Given the description of an element on the screen output the (x, y) to click on. 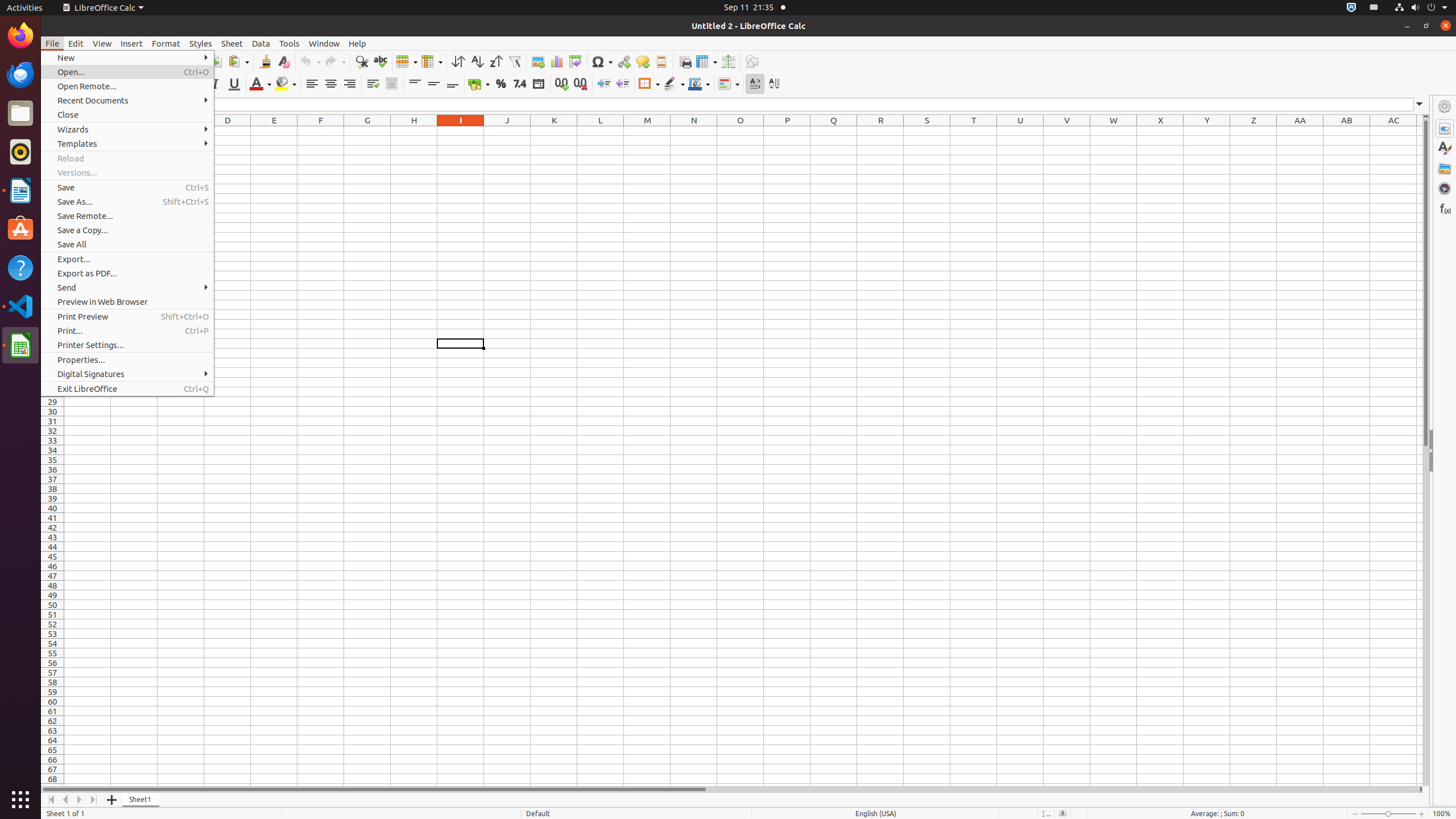
J1 Element type: table-cell (507, 130)
Digital Signatures Element type: menu (126, 373)
AC1 Element type: table-cell (1393, 130)
LibreOffice Calc Element type: menu (102, 7)
Decrease Element type: push-button (622, 83)
